Given the description of an element on the screen output the (x, y) to click on. 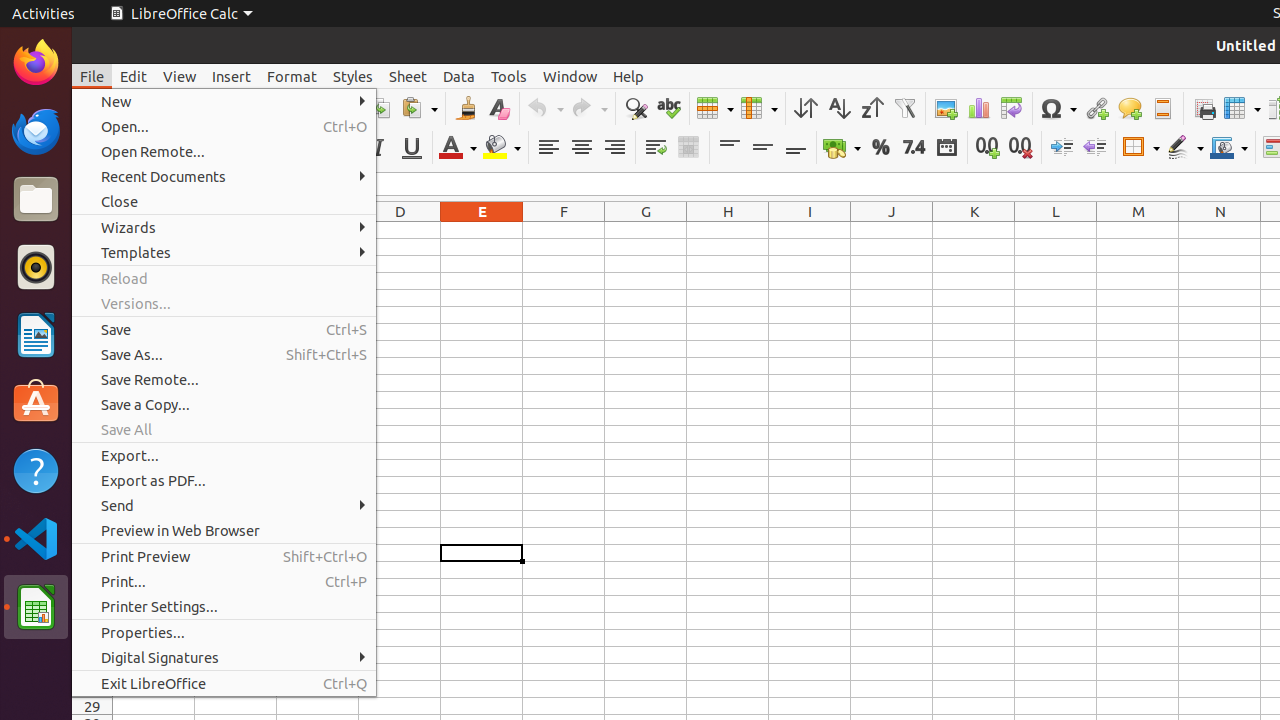
Styles Element type: menu (353, 76)
Chart Element type: push-button (978, 108)
Exit LibreOffice Element type: menu-item (224, 683)
Date Element type: push-button (946, 147)
Merge and Center Cells Element type: push-button (688, 147)
